Given the description of an element on the screen output the (x, y) to click on. 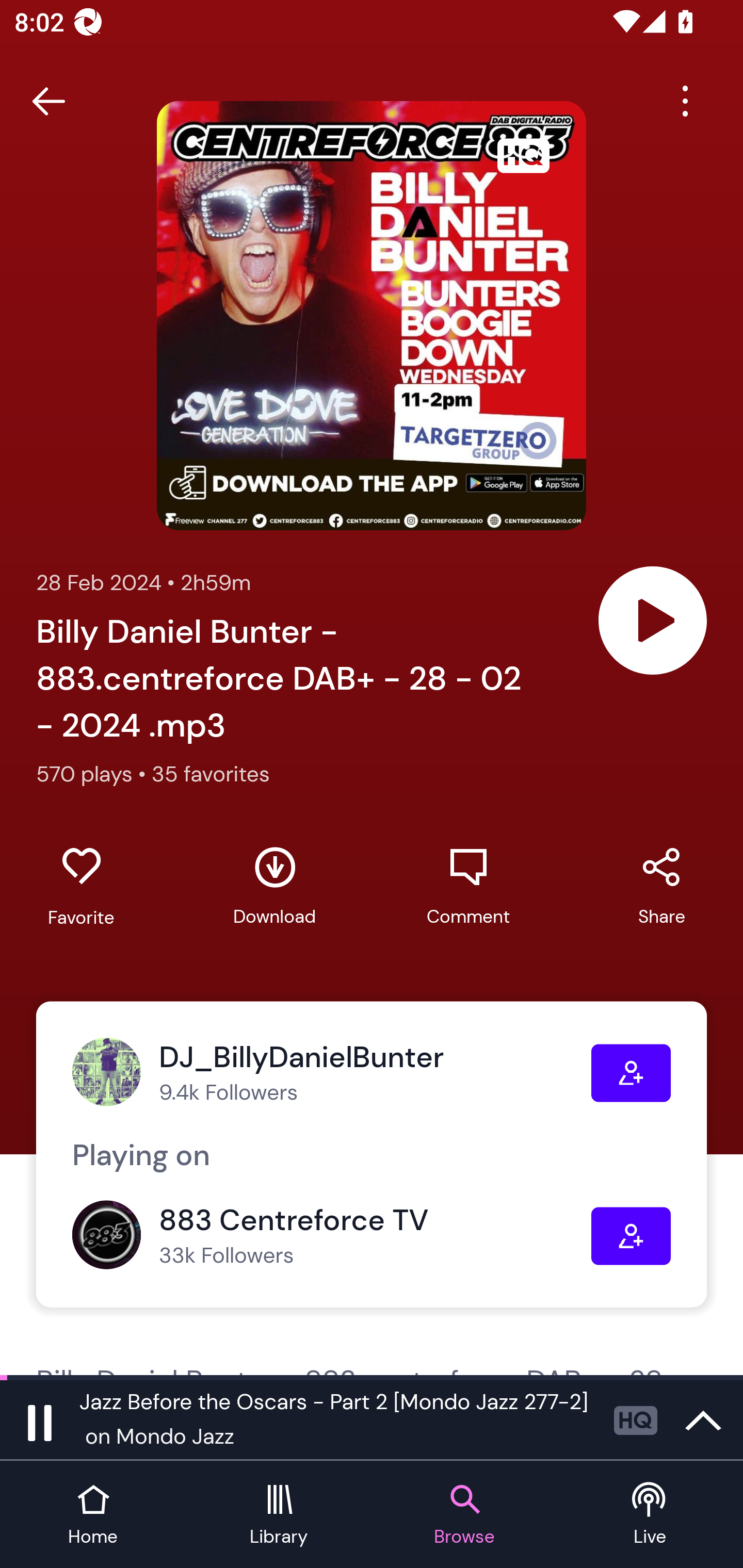
35 favorites (210, 773)
Favorite (81, 886)
Download (274, 886)
Comment (467, 886)
Share (661, 886)
Follow (630, 1073)
Follow (630, 1236)
Home tab Home (92, 1515)
Library tab Library (278, 1515)
Browse tab Browse (464, 1515)
Live tab Live (650, 1515)
